Given the description of an element on the screen output the (x, y) to click on. 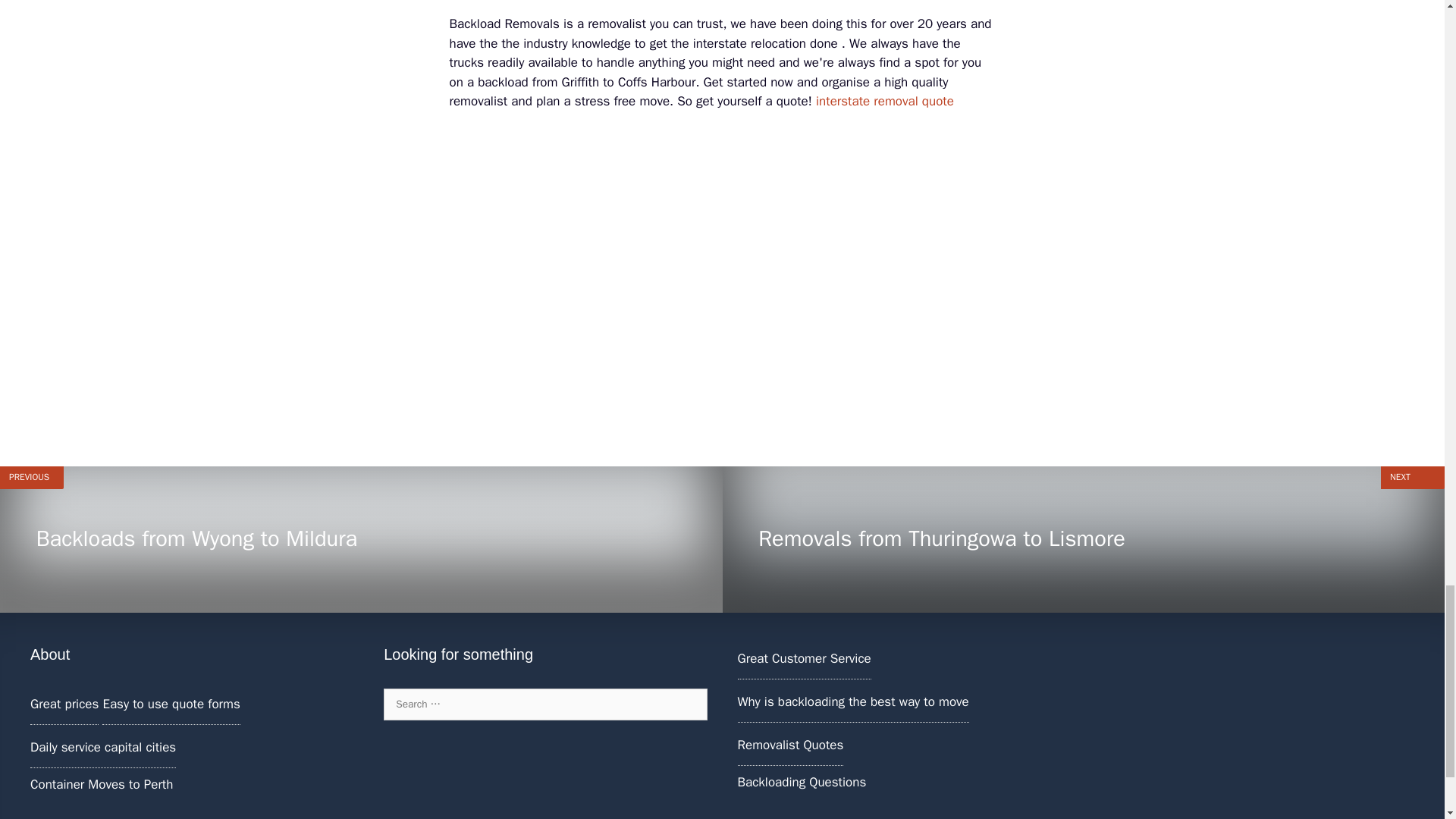
Removalist Quotes (361, 539)
Great Customer Service (789, 744)
Backloading Questions (803, 658)
interstate removal quote (801, 781)
Why is backloading the best way to move (884, 100)
Search for: (852, 701)
